Given the description of an element on the screen output the (x, y) to click on. 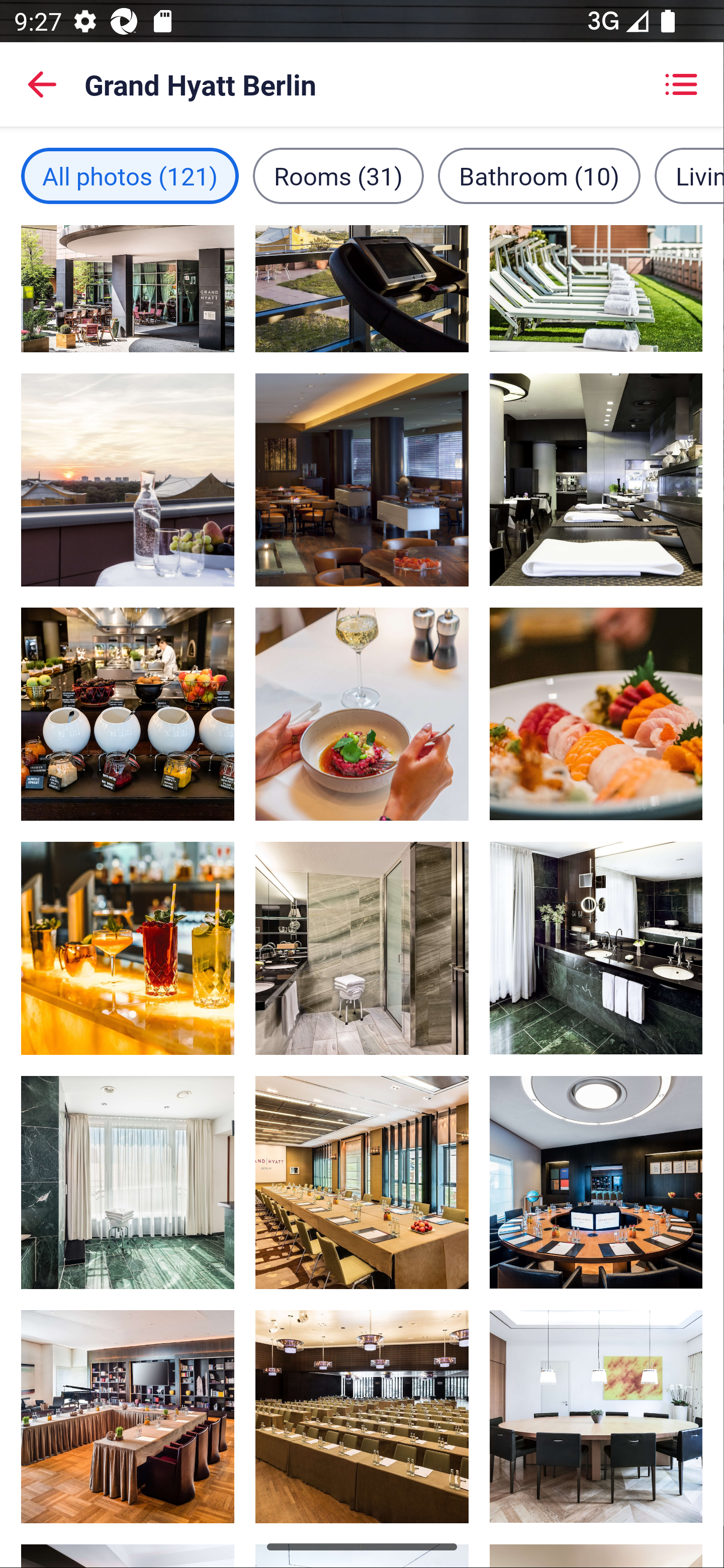
Back (42, 84)
Showing grid view (681, 84)
All photos filter, 121 images (129, 175)
Rooms filter, 31 images (337, 175)
Bathroom filter, 10 images (539, 175)
Living area filter, 12 images (688, 175)
Exterior, image (127, 288)
Fitness facility, image (361, 288)
2 restaurants, Asian cuisine, image (361, 479)
2 restaurants, Asian cuisine, image (595, 479)
Daily buffet breakfast (EUR 44 per person), image (127, 714)
2 restaurants, Asian cuisine, image (361, 714)
2 restaurants, Asian cuisine, image (595, 714)
Bar (on property), image (127, 948)
Meeting facility, image (361, 1181)
Meeting facility, image (595, 1181)
Meeting facility, image (127, 1416)
Lobby, image (361, 1416)
